Given the description of an element on the screen output the (x, y) to click on. 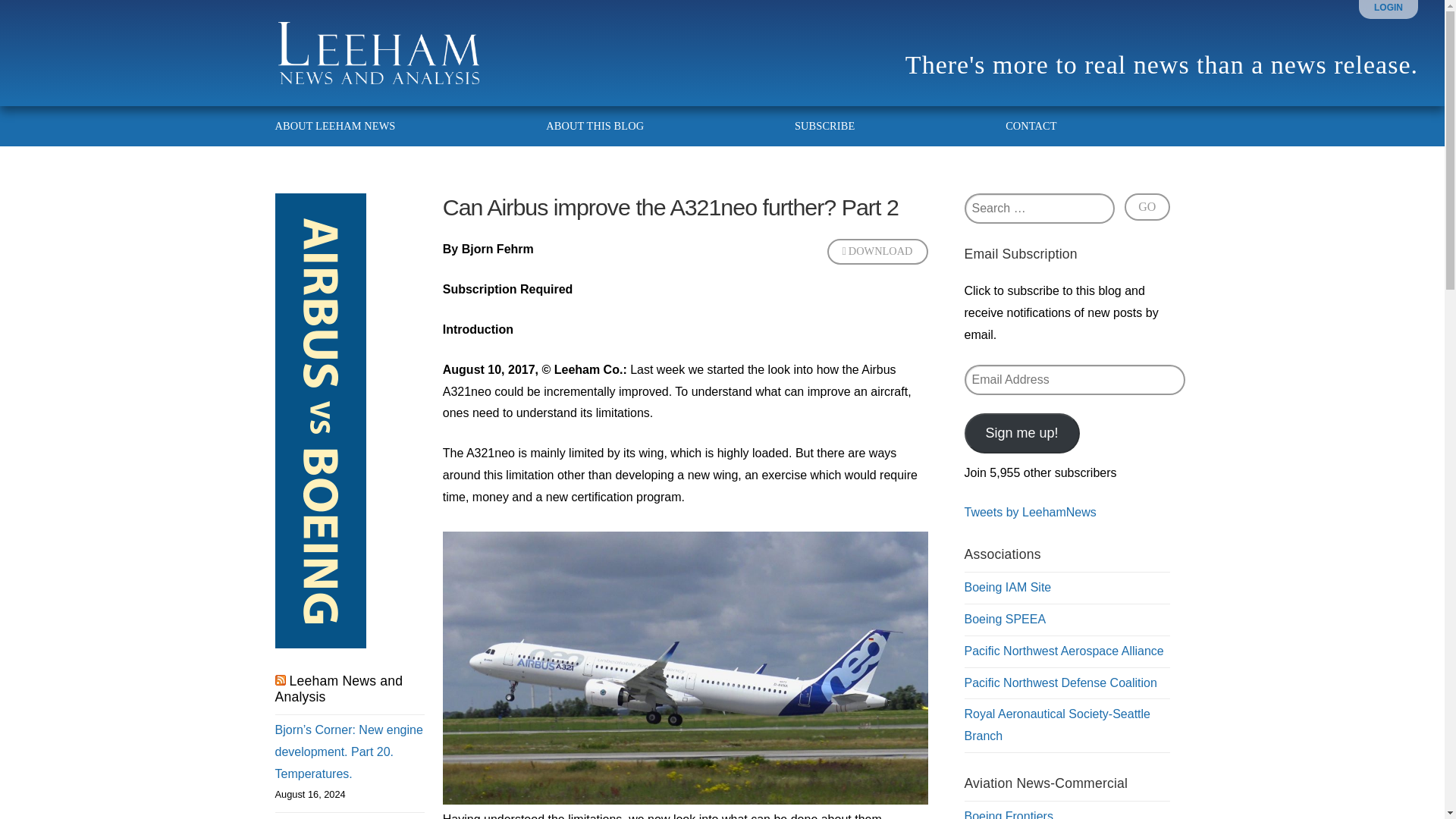
LOGIN (1388, 7)
Tweets by LeehamNews (1029, 512)
ABOUT THIS BLOG (594, 126)
SUBSCRIBE (824, 126)
Go (1147, 206)
Go (1147, 206)
DOWNLOAD (877, 251)
Leeham News and Analysis (339, 688)
Sign me up! (1021, 432)
Boeing IAM Site (1007, 586)
